Given the description of an element on the screen output the (x, y) to click on. 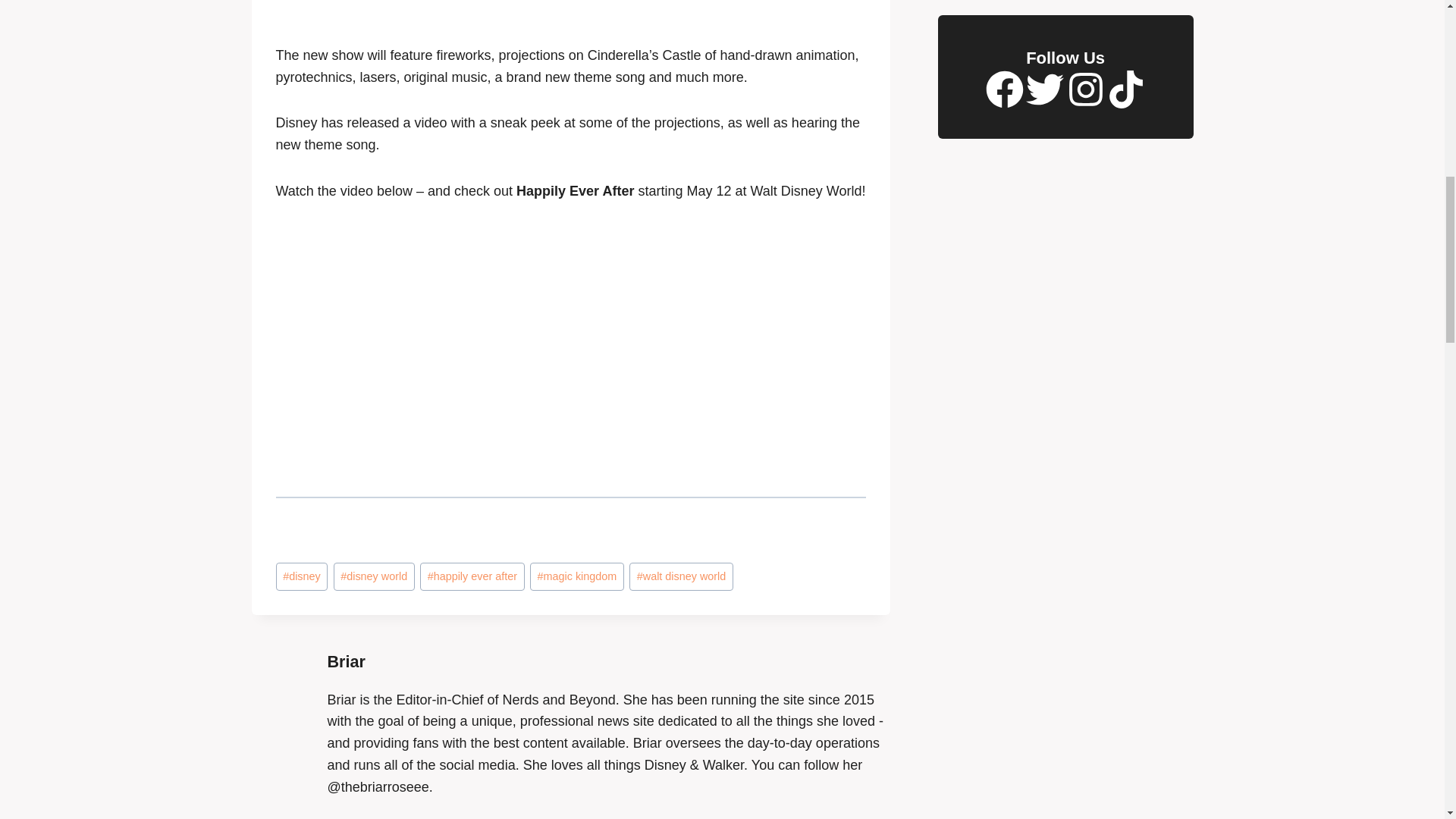
magic kingdom (576, 576)
disney (302, 576)
disney world (373, 576)
happily ever after (472, 576)
walt disney world (680, 576)
Posts by Briar (346, 660)
